Given the description of an element on the screen output the (x, y) to click on. 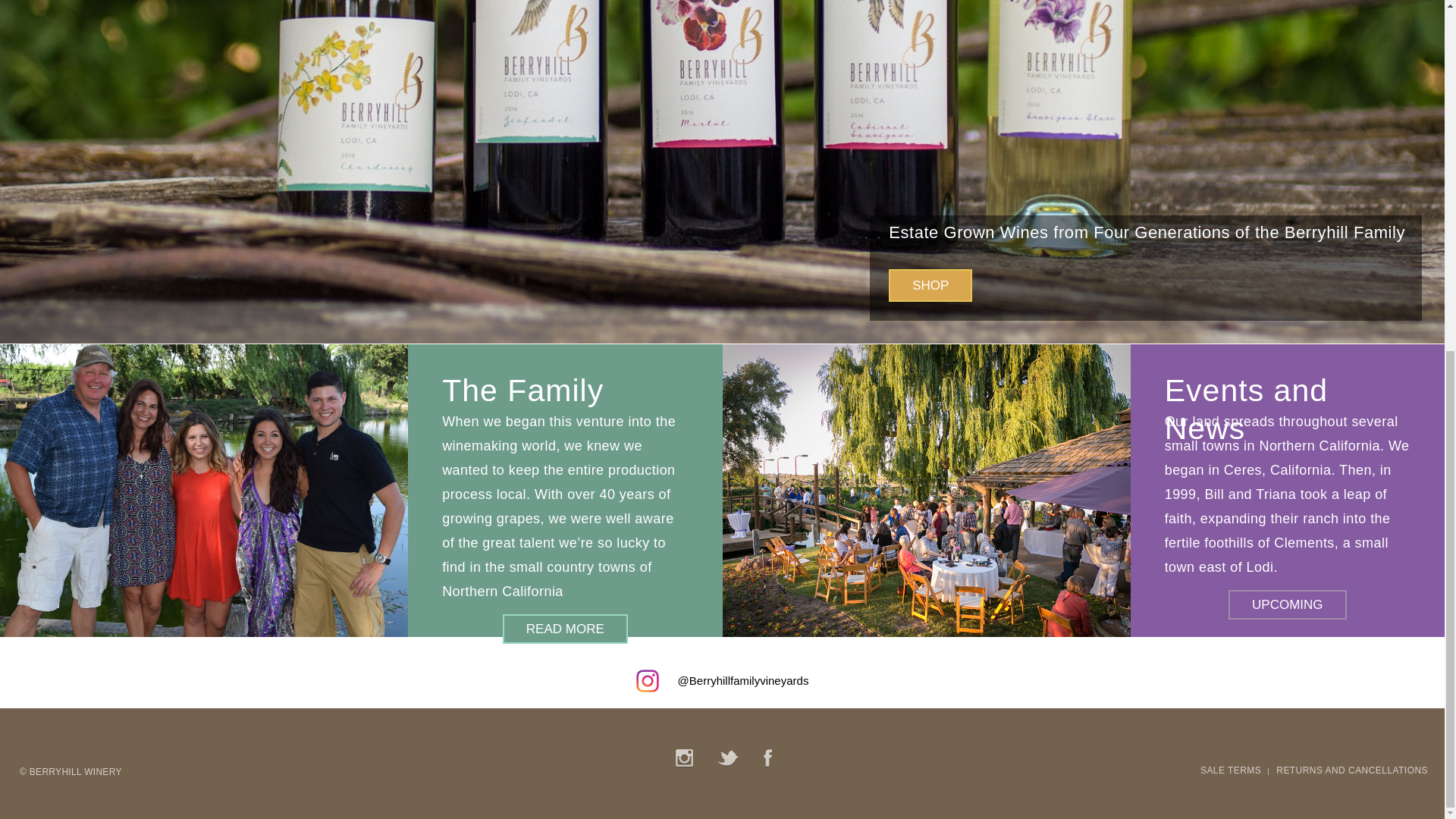
RETURNS AND CANCELLATIONS (1352, 769)
SHOP (930, 285)
SALE TERMS (1229, 769)
READ MORE (564, 628)
UPCOMING (1287, 604)
